Given the description of an element on the screen output the (x, y) to click on. 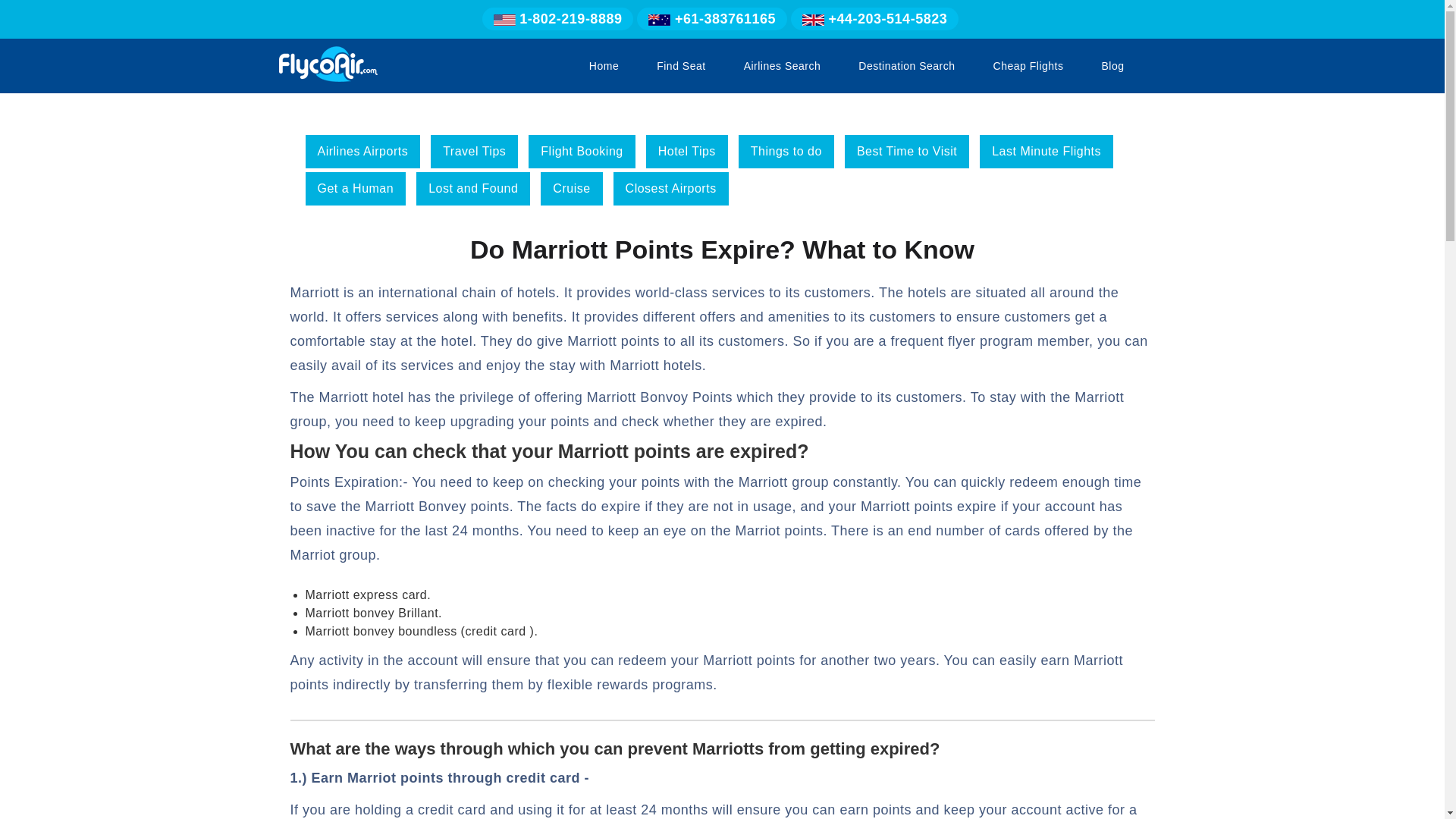
1-802-219-8889 (558, 18)
Flight Booking (581, 151)
Destination Search (906, 65)
Hotel Tips (687, 151)
Things to do (786, 151)
Cheap Flights (1028, 65)
Find Seat (681, 65)
Travel Tips (474, 151)
Blog (1112, 65)
Best Time to Visit (906, 151)
